Given the description of an element on the screen output the (x, y) to click on. 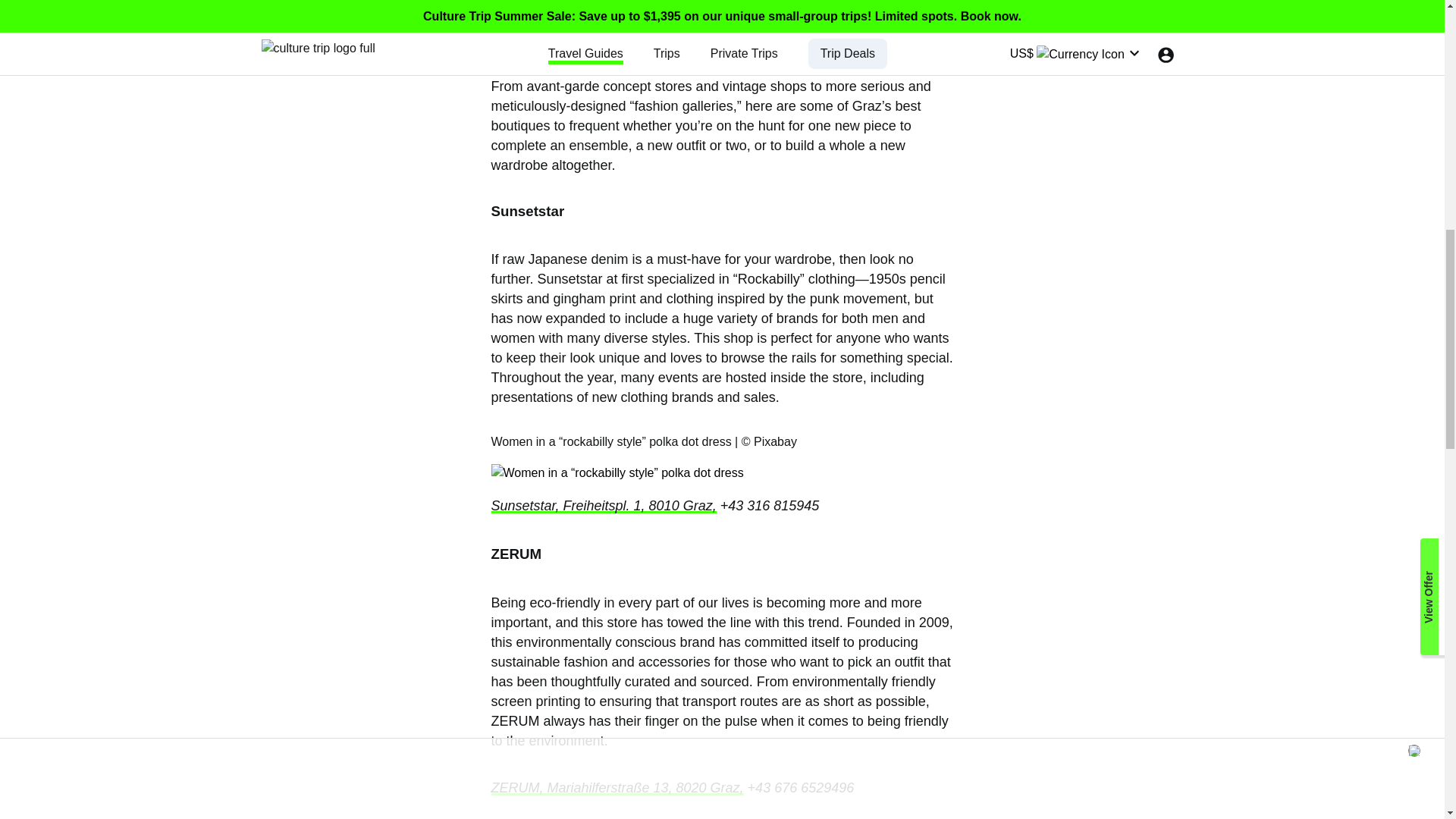
21 May 2020 (357, 45)
Sunsetstar, Freiheitspl. 1, 8010 Graz, (604, 505)
